Given the description of an element on the screen output the (x, y) to click on. 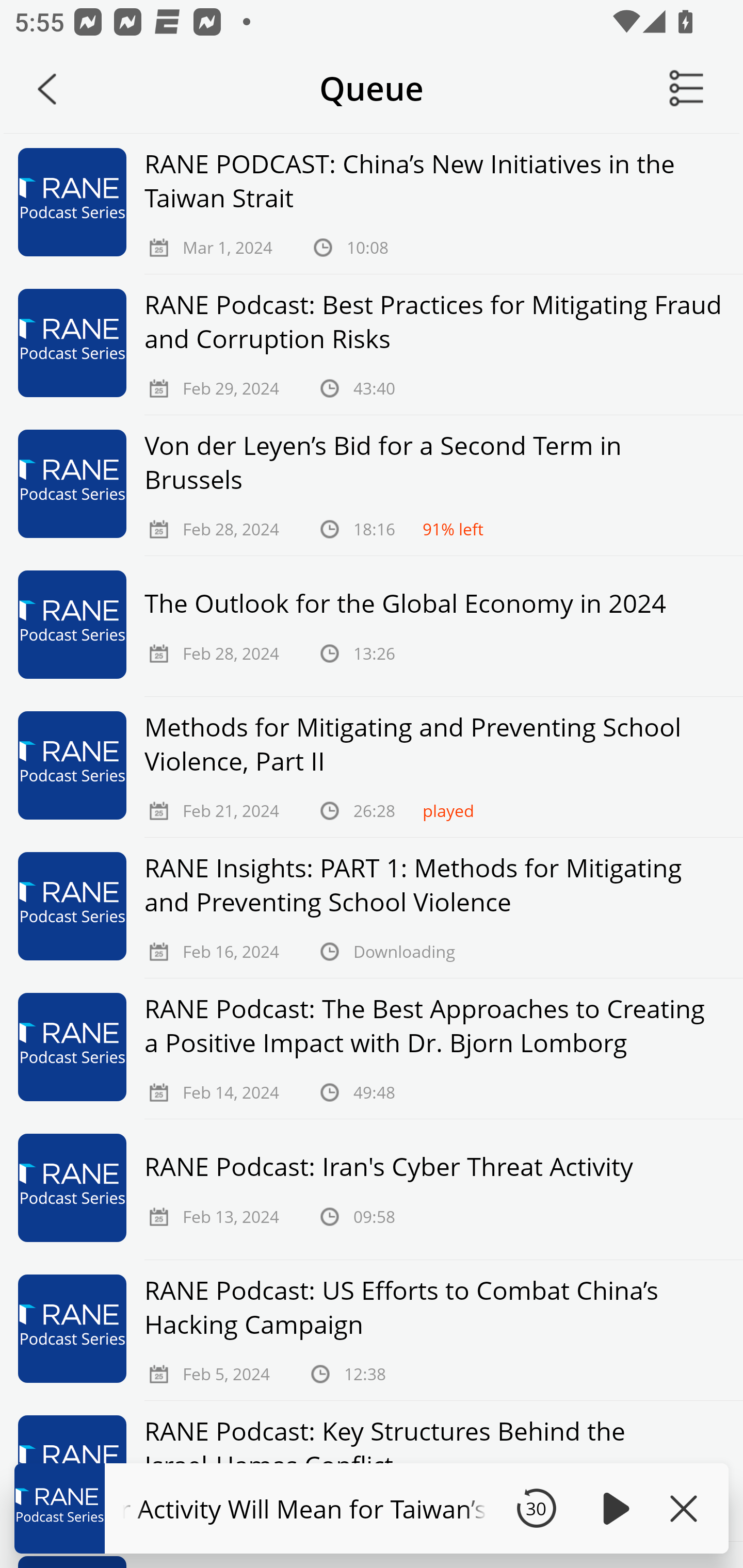
Back (46, 88)
Play (613, 1507)
30 Seek Backward (536, 1508)
